Given the description of an element on the screen output the (x, y) to click on. 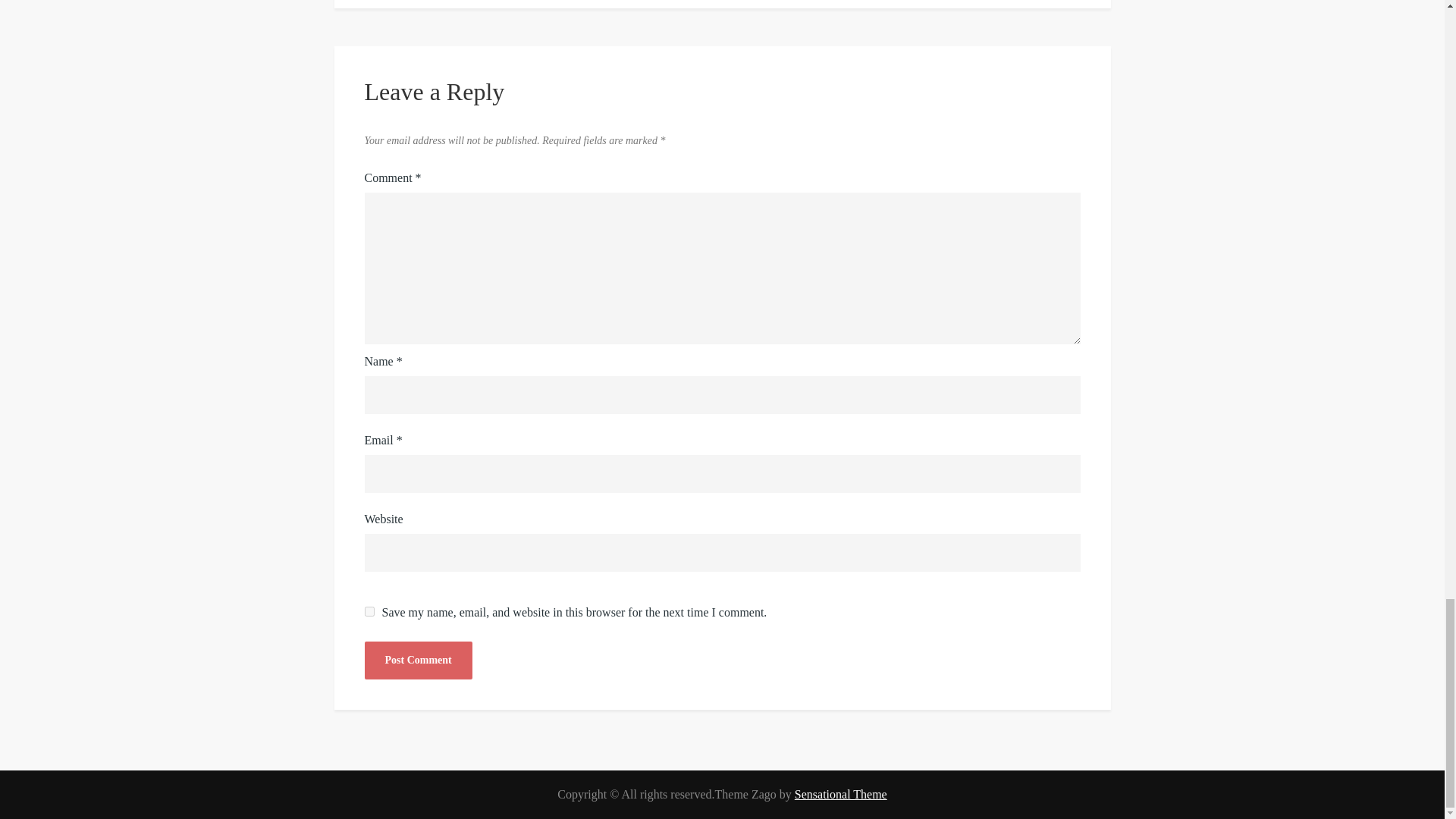
Post Comment (417, 660)
Maintaining a lawn (915, 4)
yes (369, 611)
Sensational Theme (840, 793)
Post Comment (417, 660)
